Given the description of an element on the screen output the (x, y) to click on. 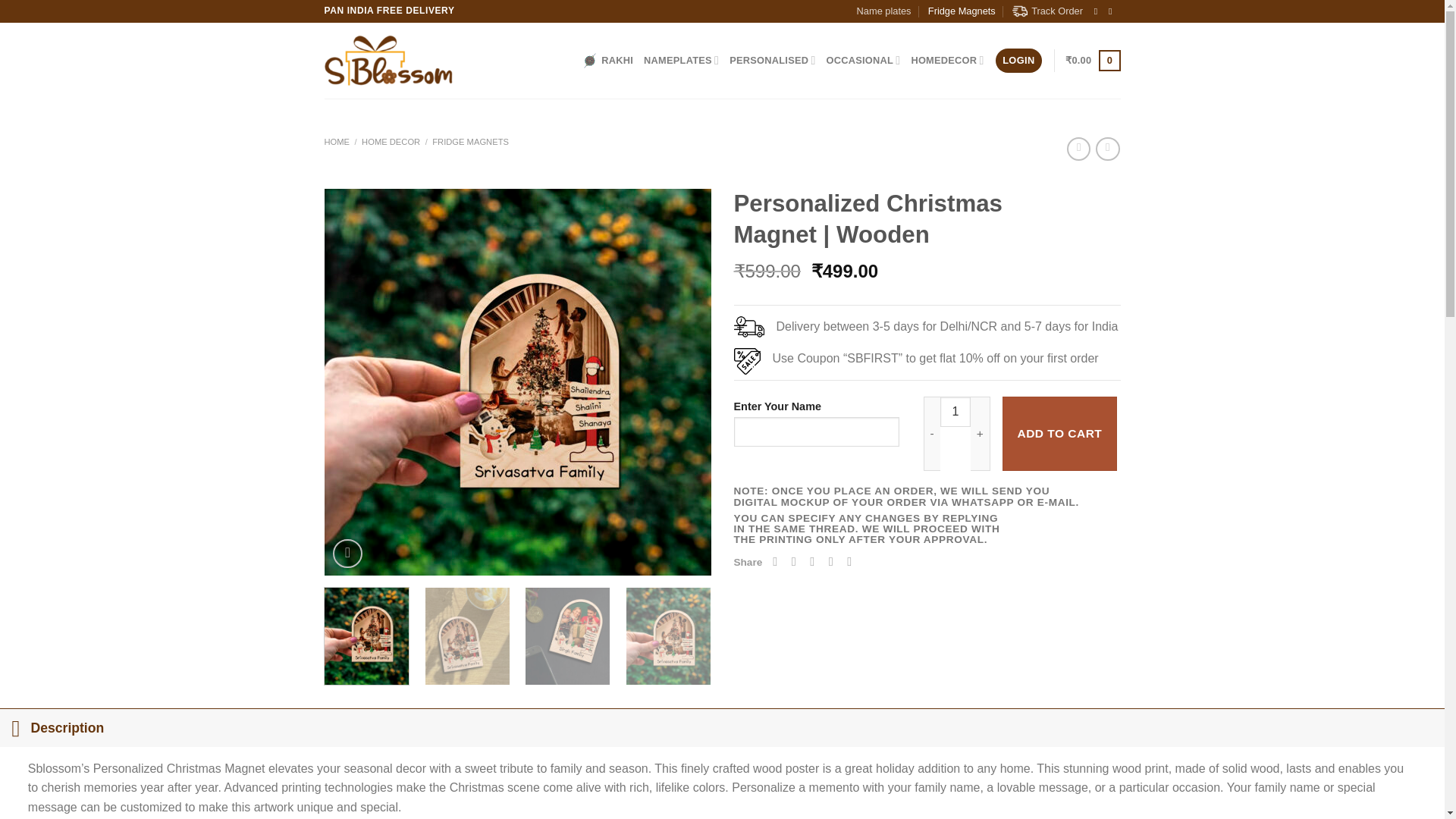
Basket (1092, 60)
LOGIN (1018, 60)
HOMEDECOR (947, 60)
NAMEPLATES (681, 60)
1 (955, 411)
RAKHI (607, 60)
Sblossom - The happiness delivery experts. (388, 60)
Fridge Magnets (961, 11)
Name plates (884, 11)
Track Order (1047, 11)
